Given the description of an element on the screen output the (x, y) to click on. 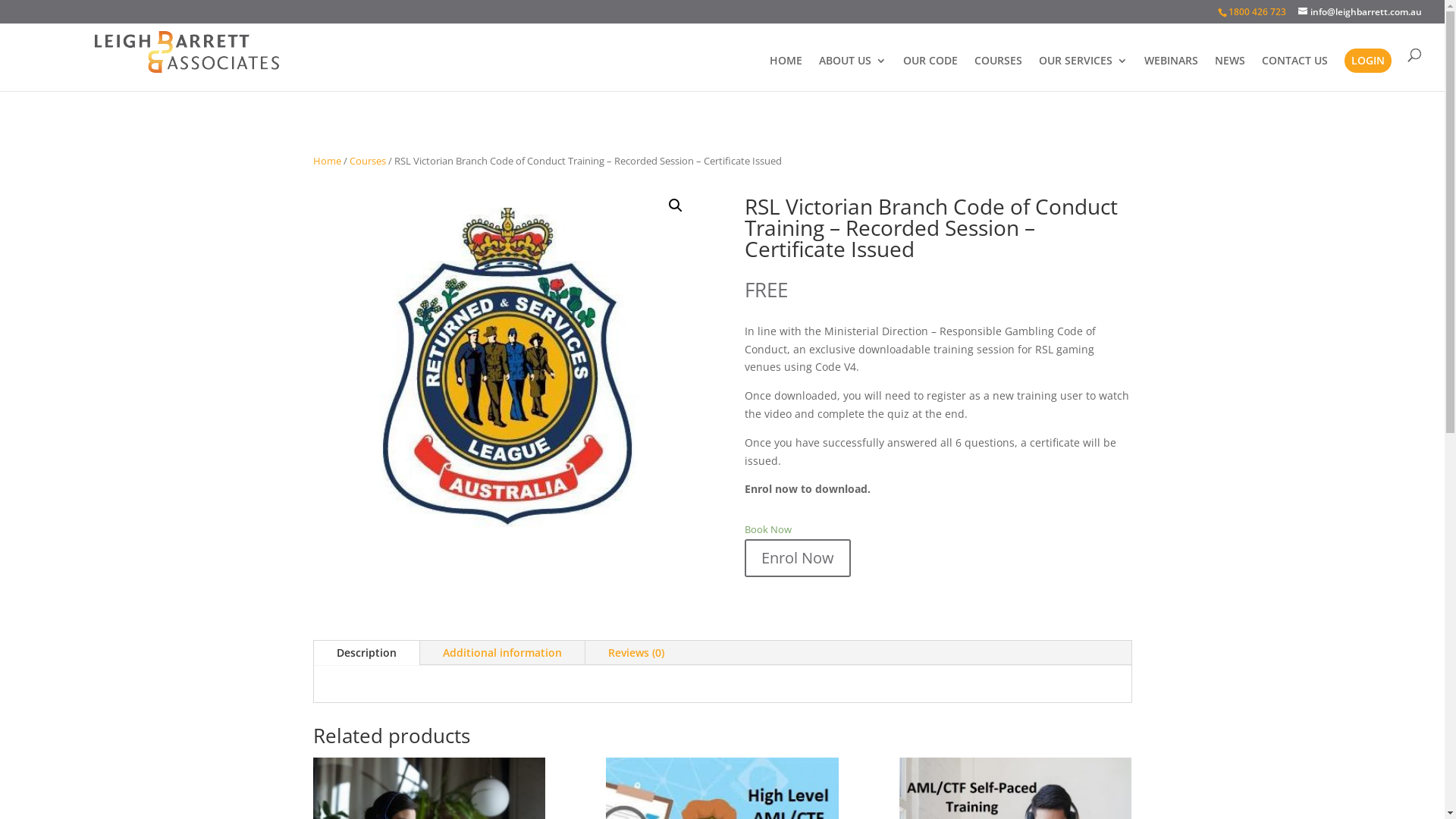
info@leighbarrett.com.au Element type: text (1359, 11)
RSL Logo Element type: hover (505, 374)
OUR SERVICES Element type: text (1082, 73)
HOME Element type: text (785, 73)
WEBINARS Element type: text (1171, 73)
OUR CODE Element type: text (930, 73)
Reviews (0) Element type: text (636, 652)
Description Element type: text (366, 652)
NEWS Element type: text (1229, 73)
COURSES Element type: text (998, 73)
LOGIN Element type: text (1367, 60)
CONTACT US Element type: text (1294, 73)
Enrol Now Element type: text (797, 558)
Additional information Element type: text (502, 652)
ABOUT US Element type: text (852, 73)
Home Element type: text (326, 160)
Courses Element type: text (366, 160)
